Given the description of an element on the screen output the (x, y) to click on. 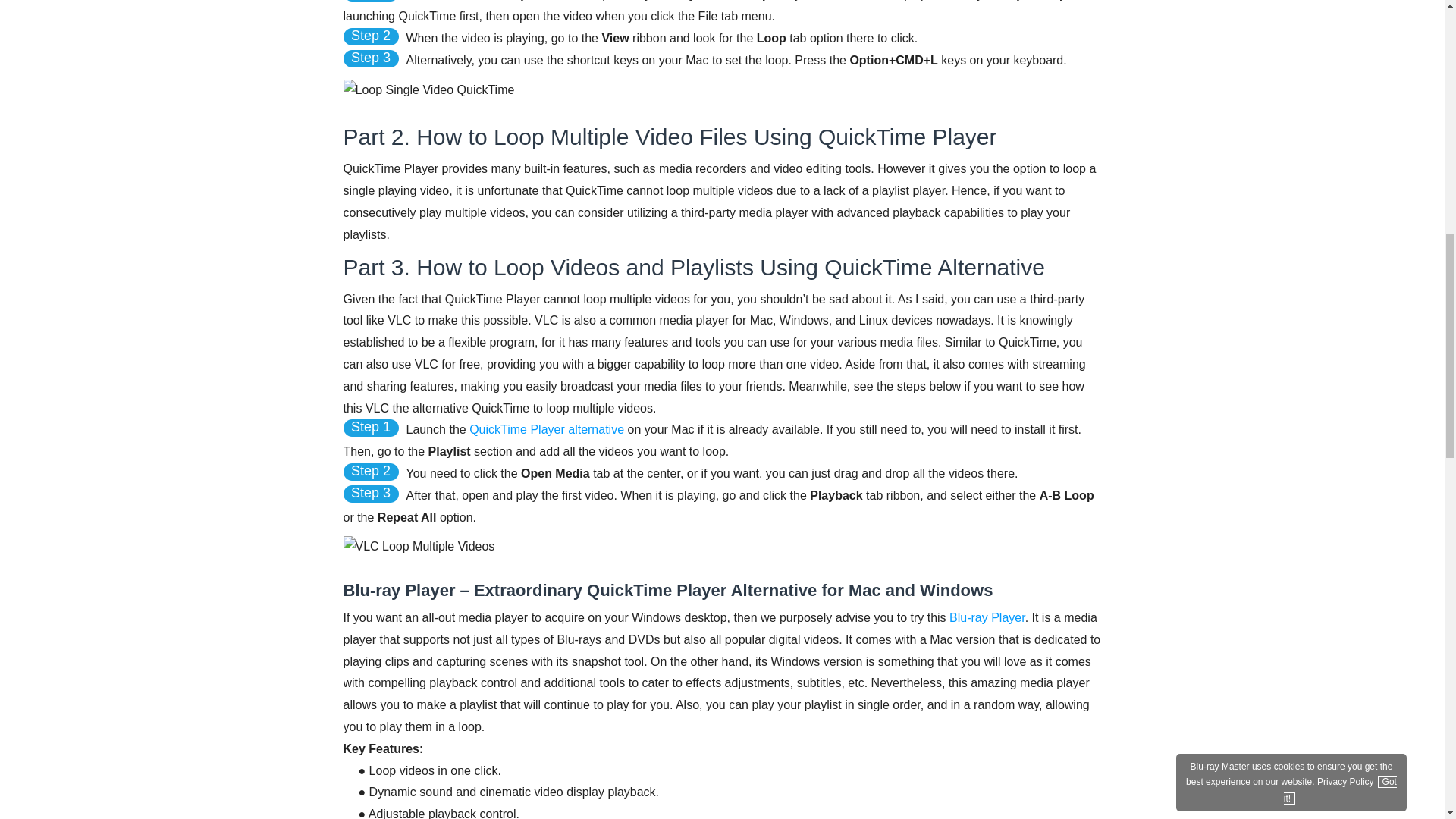
Blu-ray Player (987, 617)
QuickTime Player alternative (546, 429)
